Given the description of an element on the screen output the (x, y) to click on. 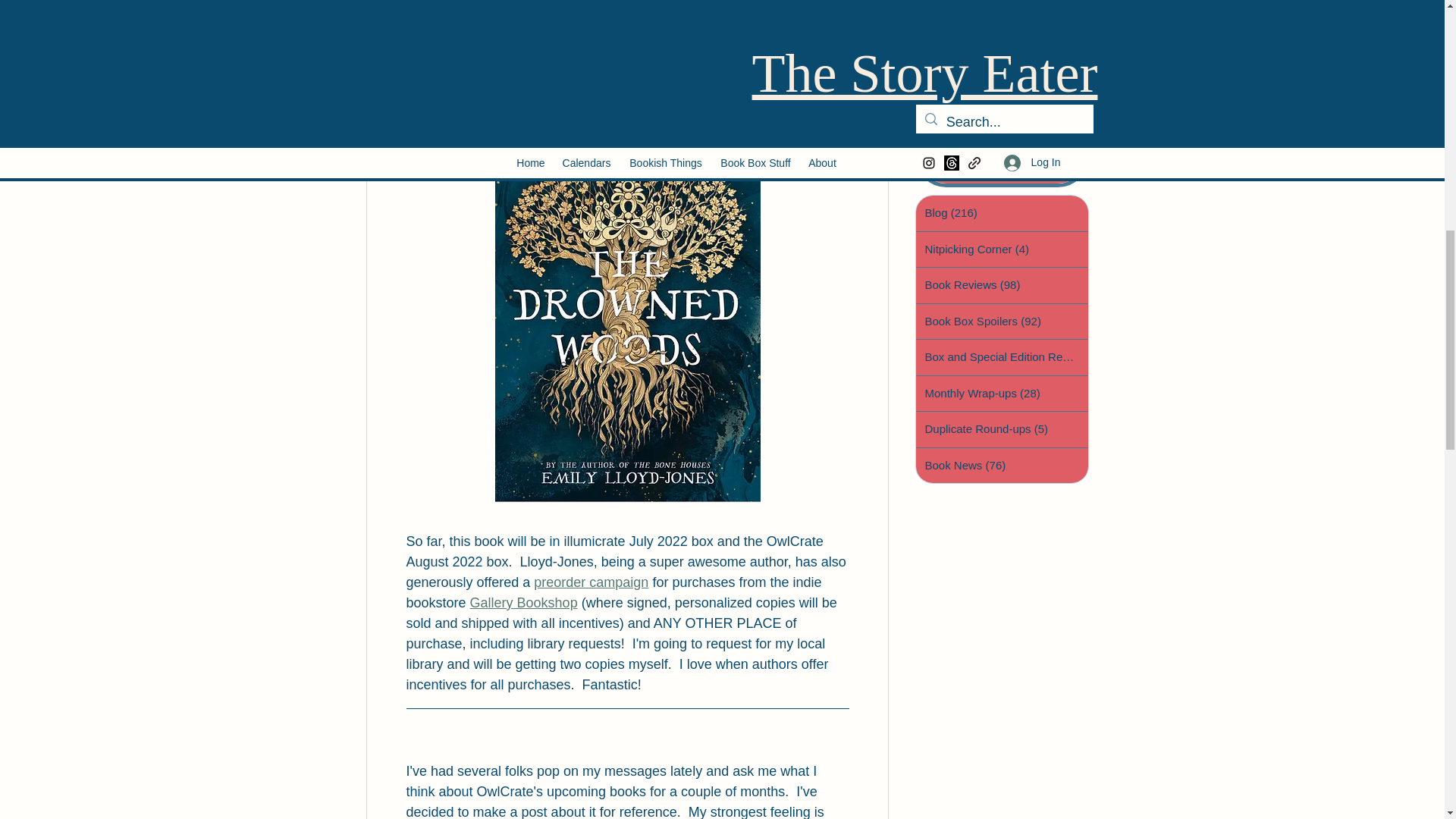
Gallery Bookshop (522, 601)
preorder campaign (590, 581)
